Given the description of an element on the screen output the (x, y) to click on. 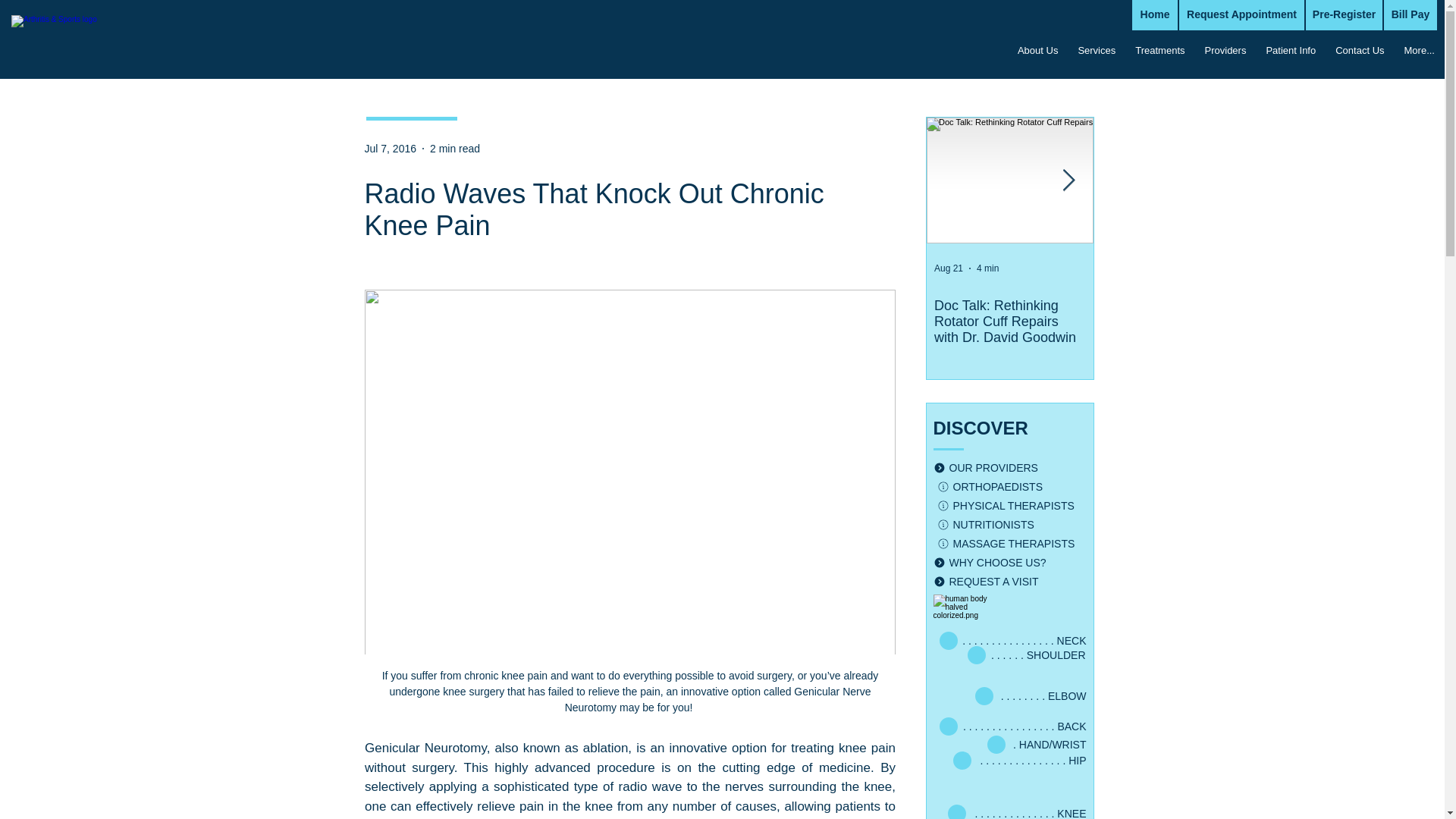
2 min read (454, 148)
Aug 21 (948, 267)
Providers (1215, 22)
4 min (987, 267)
Treatments (1141, 22)
Services (1071, 22)
Jul 3 (1109, 267)
3 min (1145, 267)
About Us (1005, 22)
Jul 7, 2016 (390, 148)
